Given the description of an element on the screen output the (x, y) to click on. 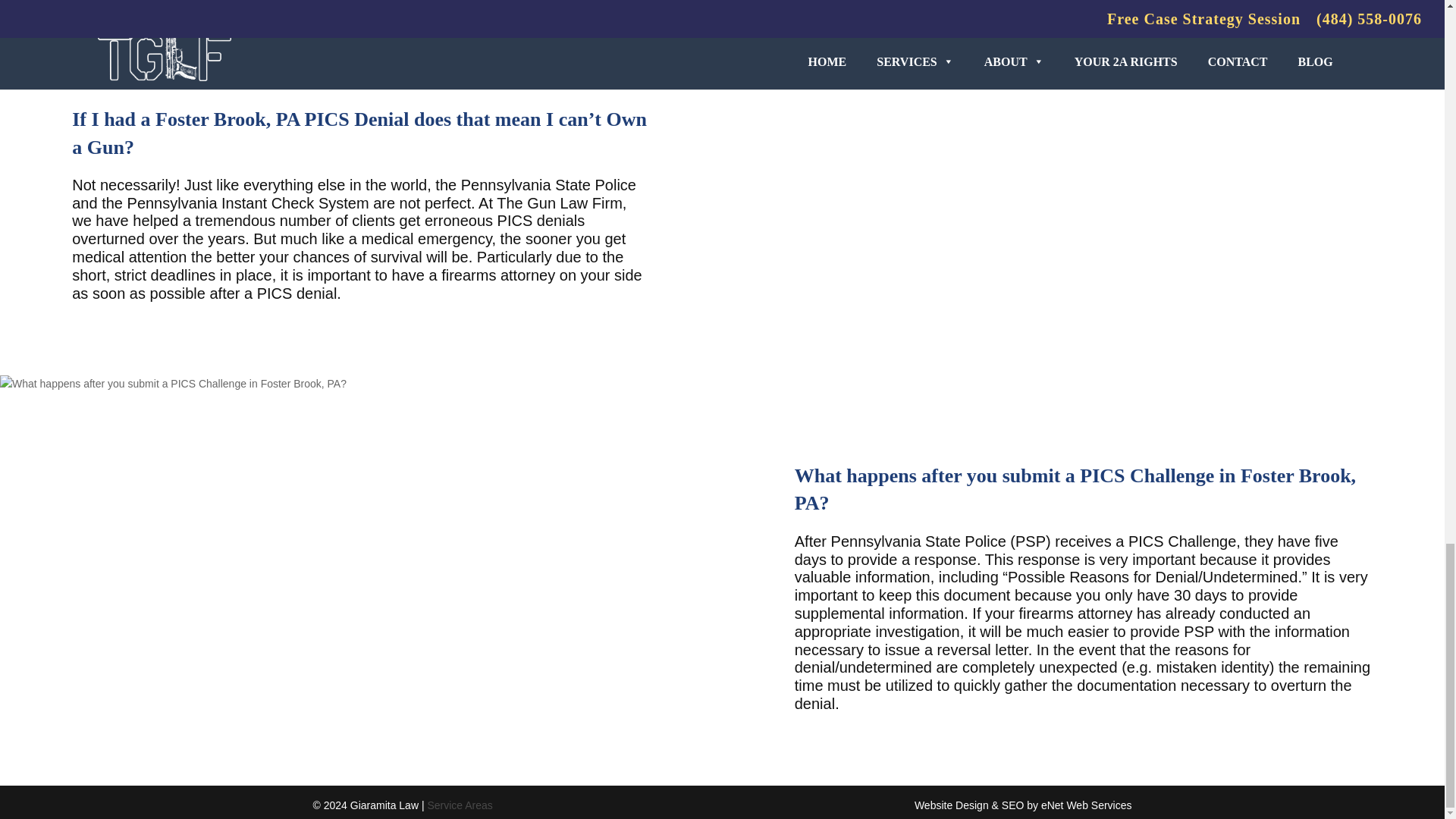
Service Areas (459, 805)
